Given the description of an element on the screen output the (x, y) to click on. 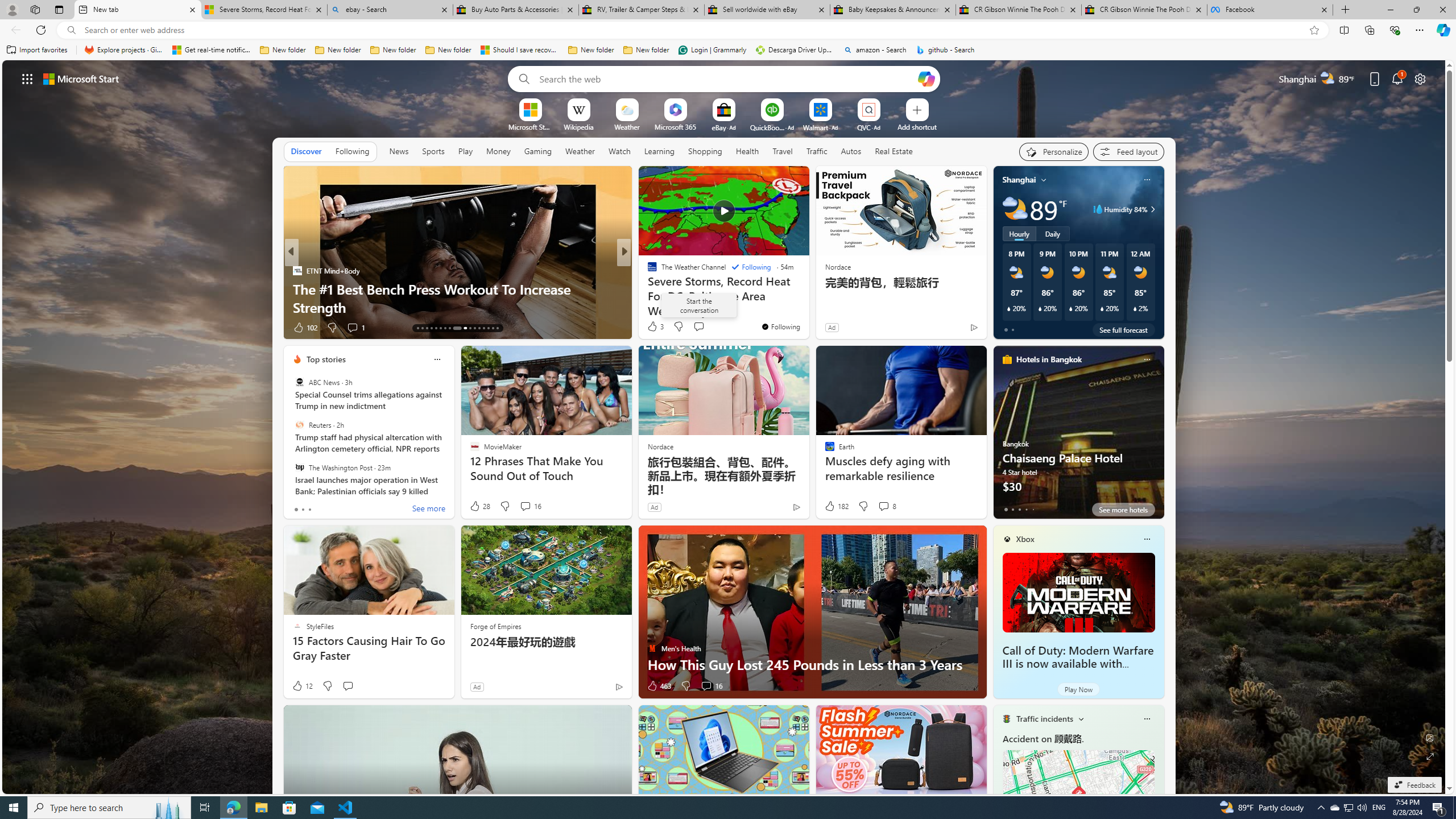
AutomationID: tab-25 (478, 328)
My location (1043, 179)
Descarga Driver Updater (794, 49)
99 Like (652, 327)
Search icon (70, 29)
